Given the description of an element on the screen output the (x, y) to click on. 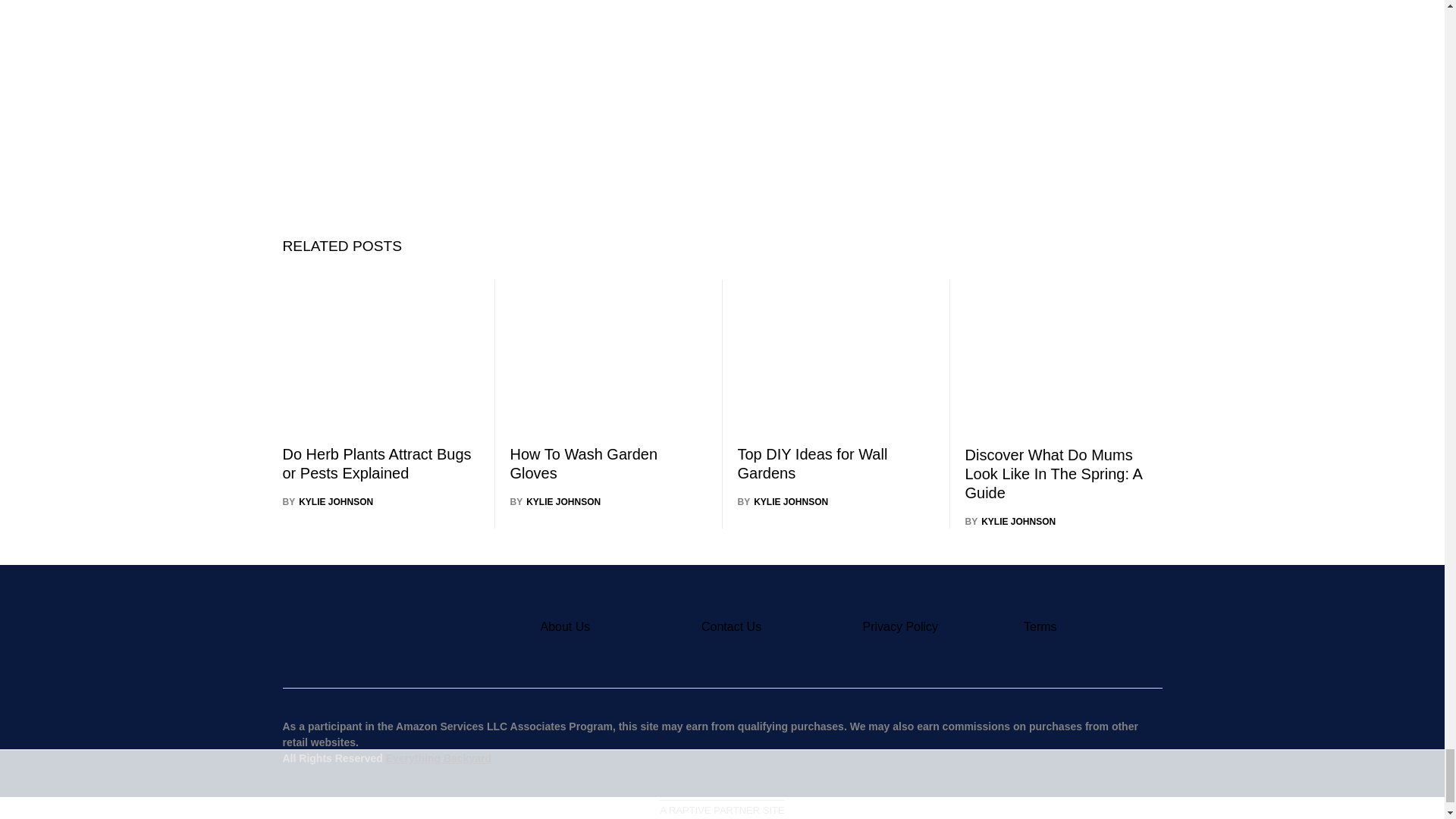
View all posts by Kylie Johnson (782, 501)
View all posts by Kylie Johnson (327, 501)
View all posts by Kylie Johnson (1009, 521)
View all posts by Kylie Johnson (554, 501)
